Given the description of an element on the screen output the (x, y) to click on. 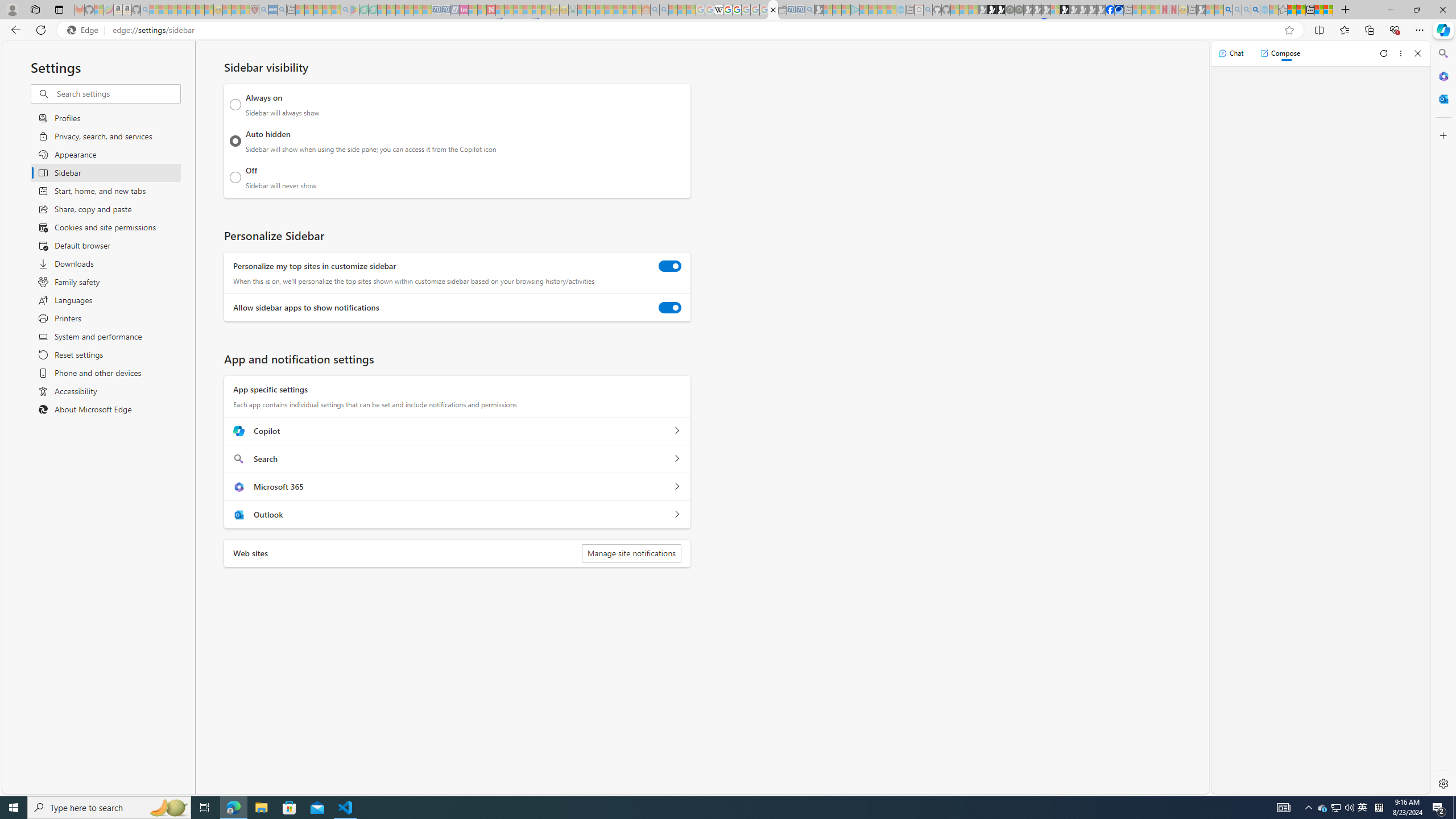
AQI & Health | AirNow.gov (1118, 9)
Pets - MSN - Sleeping (326, 9)
The Weather Channel - MSN - Sleeping (172, 9)
Kinda Frugal - MSN - Sleeping (617, 9)
Compose (1279, 52)
Expert Portfolios - Sleeping (608, 9)
